Given the description of an element on the screen output the (x, y) to click on. 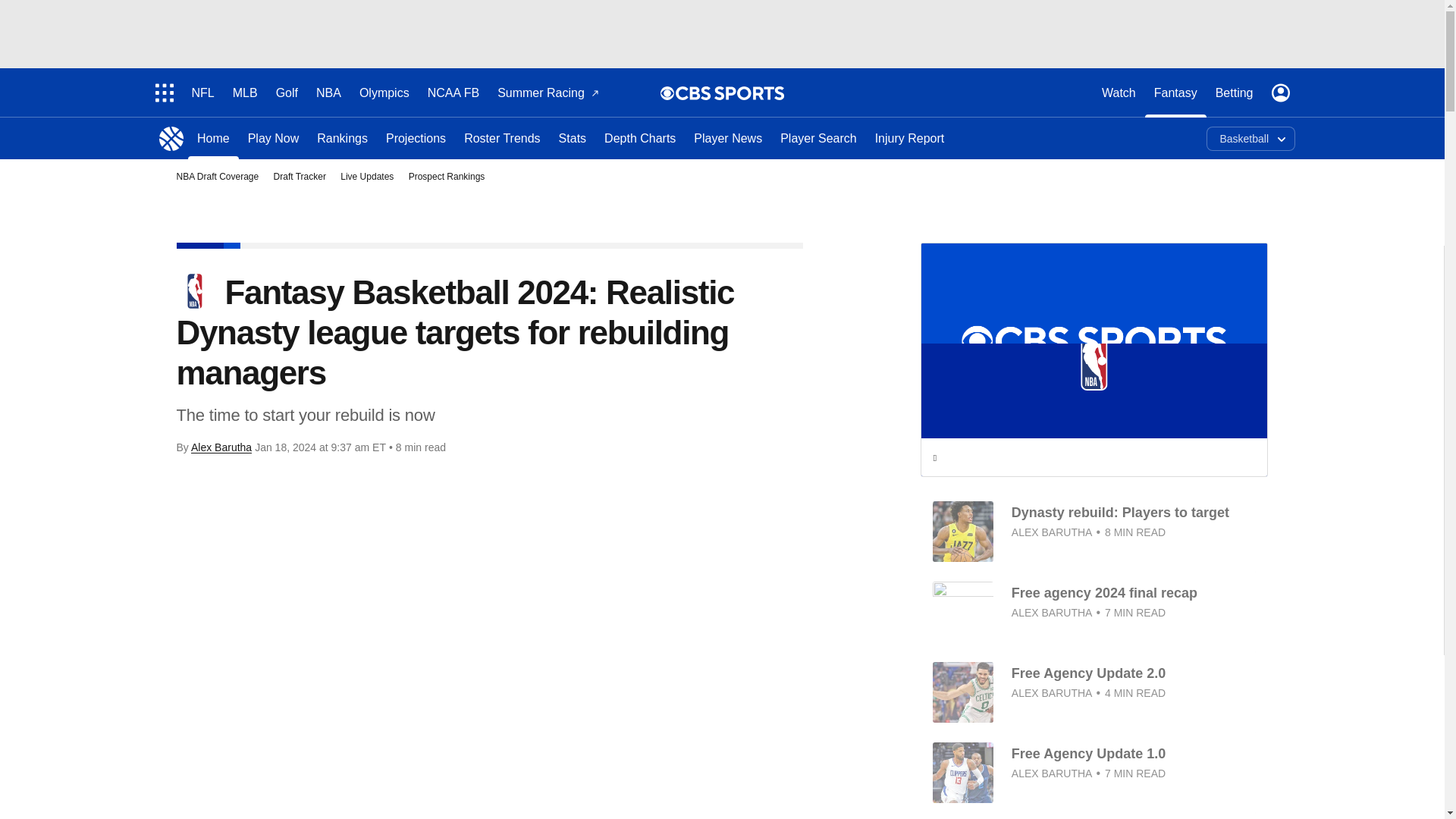
SportsBasketball (170, 137)
CBS Eye (667, 92)
CBS Logo (729, 92)
